Given the description of an element on the screen output the (x, y) to click on. 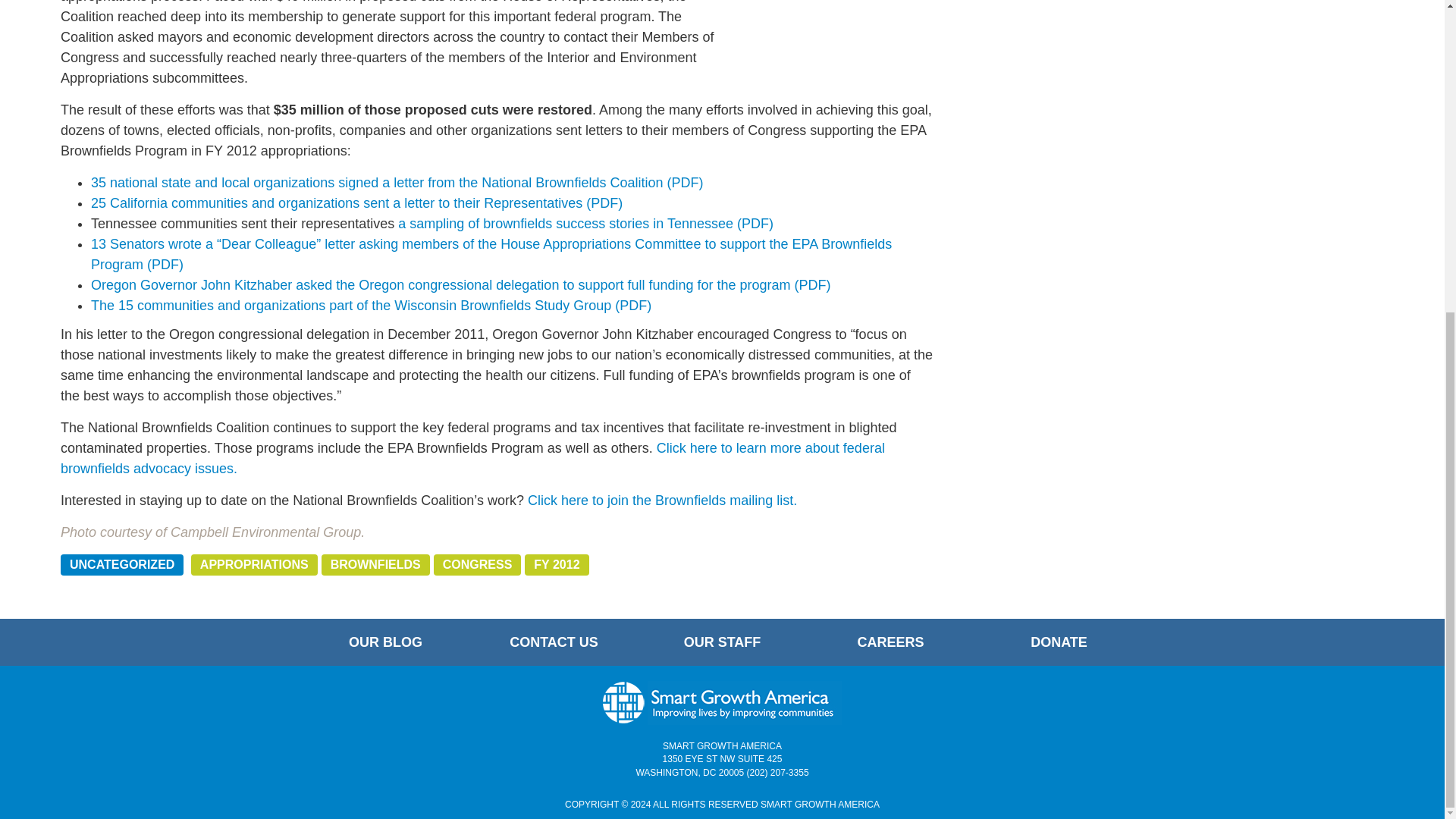
campbell-environmental-group (837, 42)
Click here to join the Brownfields mailing list. (661, 500)
